Given the description of an element on the screen output the (x, y) to click on. 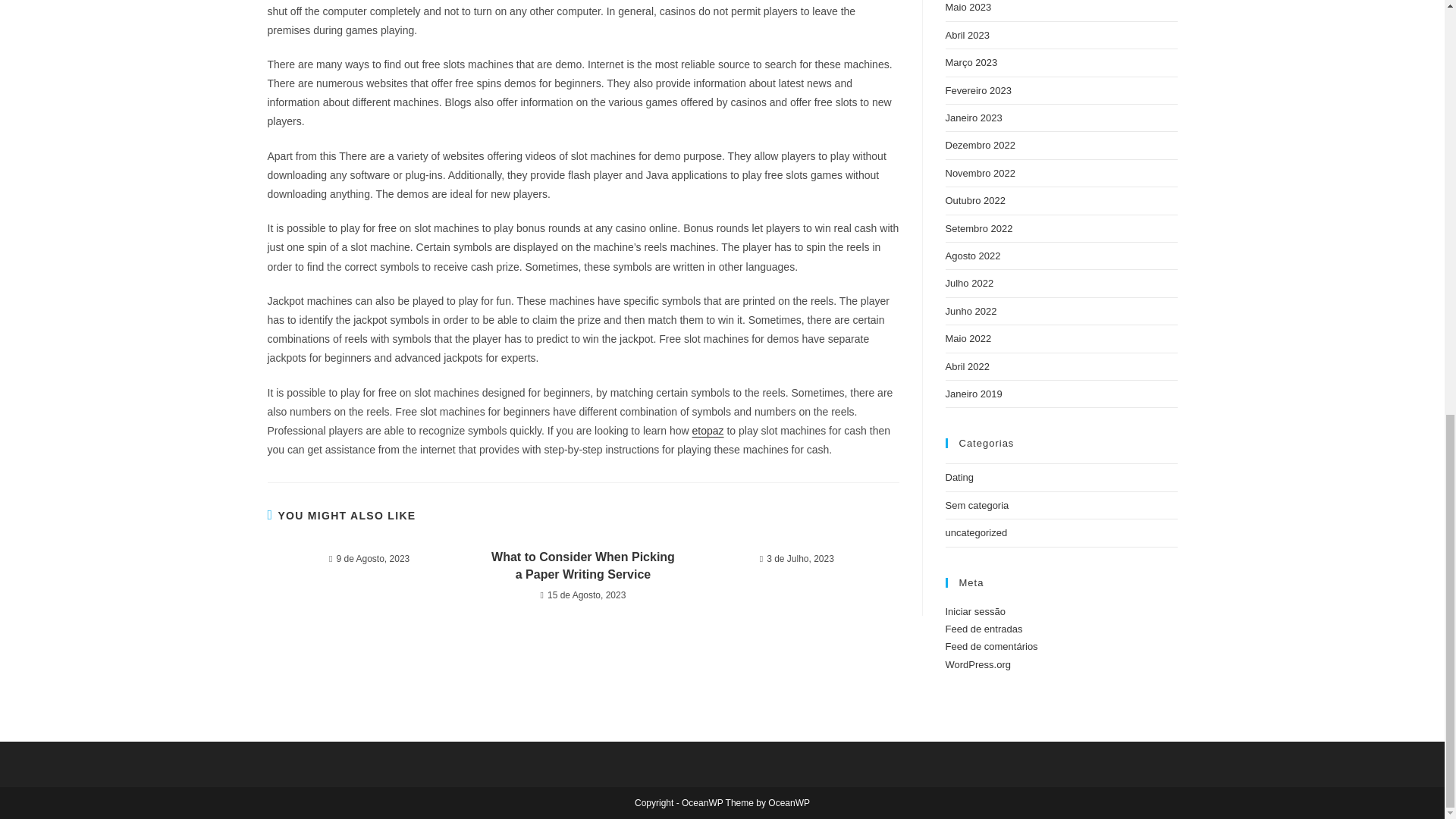
etopaz (708, 430)
Maio 2023 (967, 7)
What to Consider When Picking a Paper Writing Service (582, 565)
